Given the description of an element on the screen output the (x, y) to click on. 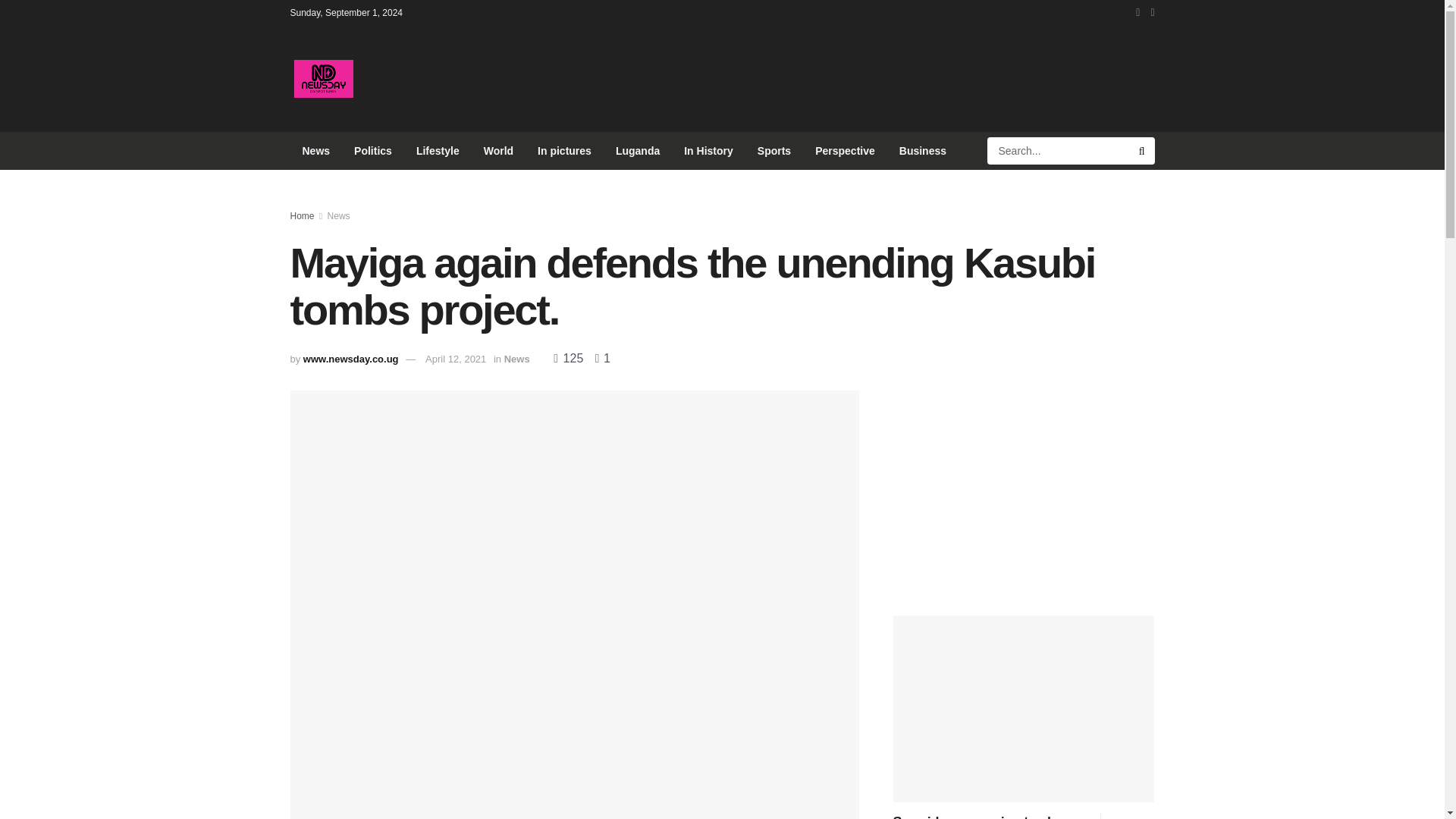
www.newsday.co.ug (350, 358)
News (338, 215)
In History (708, 150)
Luganda (637, 150)
April 12, 2021 (455, 358)
Perspective (844, 150)
In pictures (564, 150)
Sports (774, 150)
Home (301, 215)
1 (598, 358)
